Given the description of an element on the screen output the (x, y) to click on. 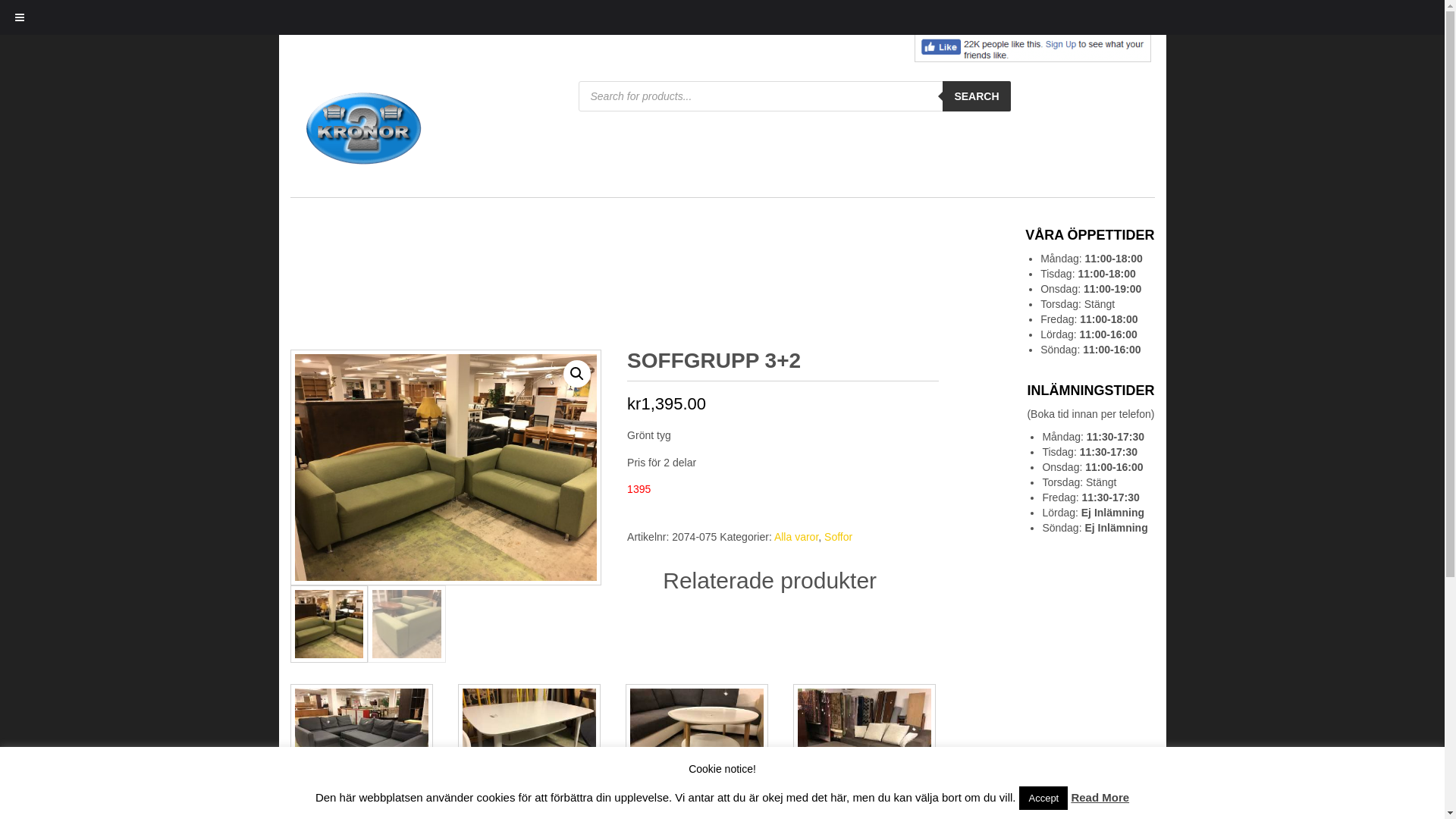
Read More Element type: text (1099, 797)
733 Element type: text (58, 11)
Foto 2019-03-26 17 15 29 Element type: hover (444, 467)
Soffor Element type: text (838, 536)
Accept Element type: text (1043, 797)
SEARCH Element type: text (976, 96)
Alla varor Element type: text (796, 536)
